Given the description of an element on the screen output the (x, y) to click on. 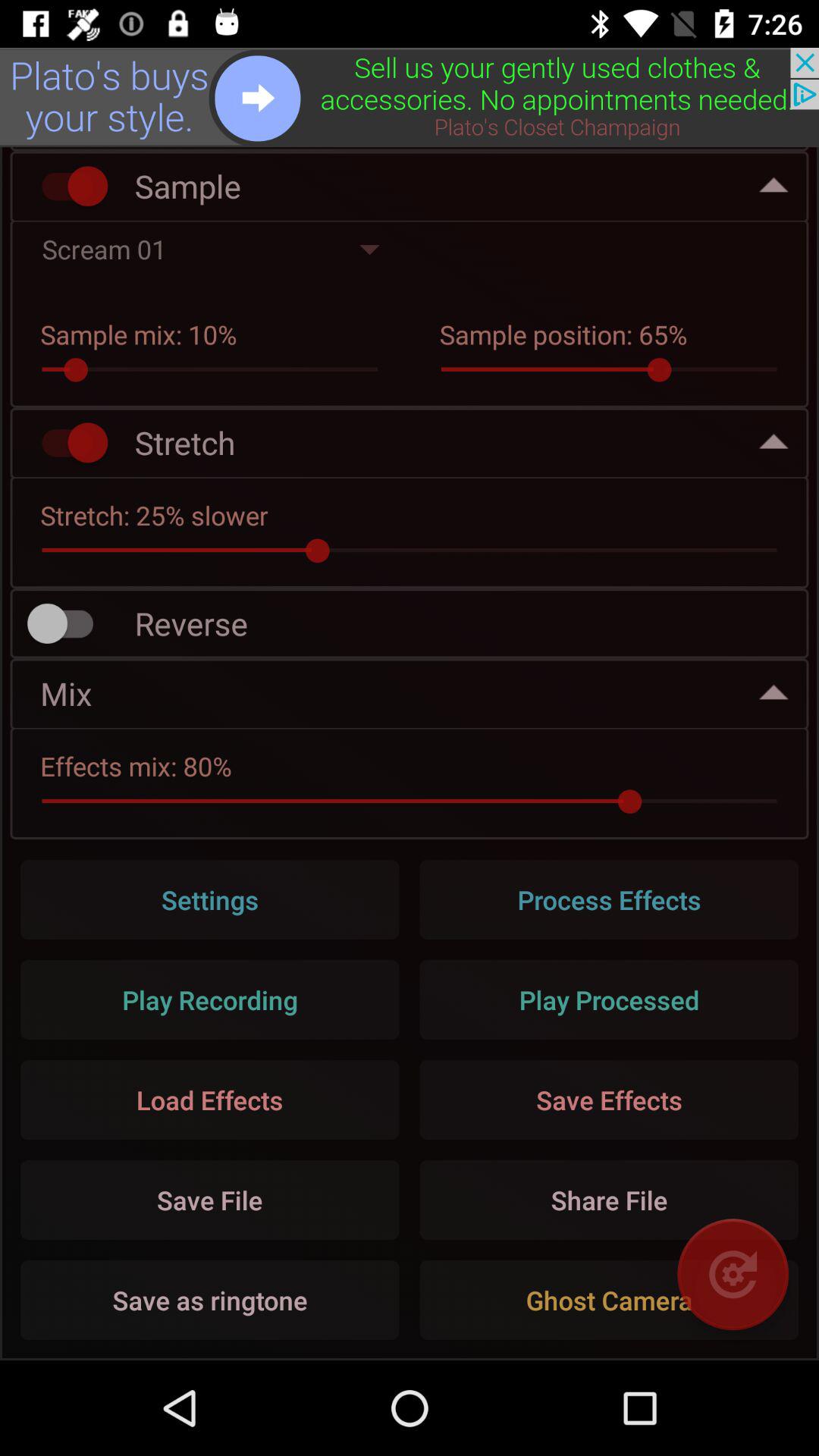
toggle the function on or off (67, 186)
